Given the description of an element on the screen output the (x, y) to click on. 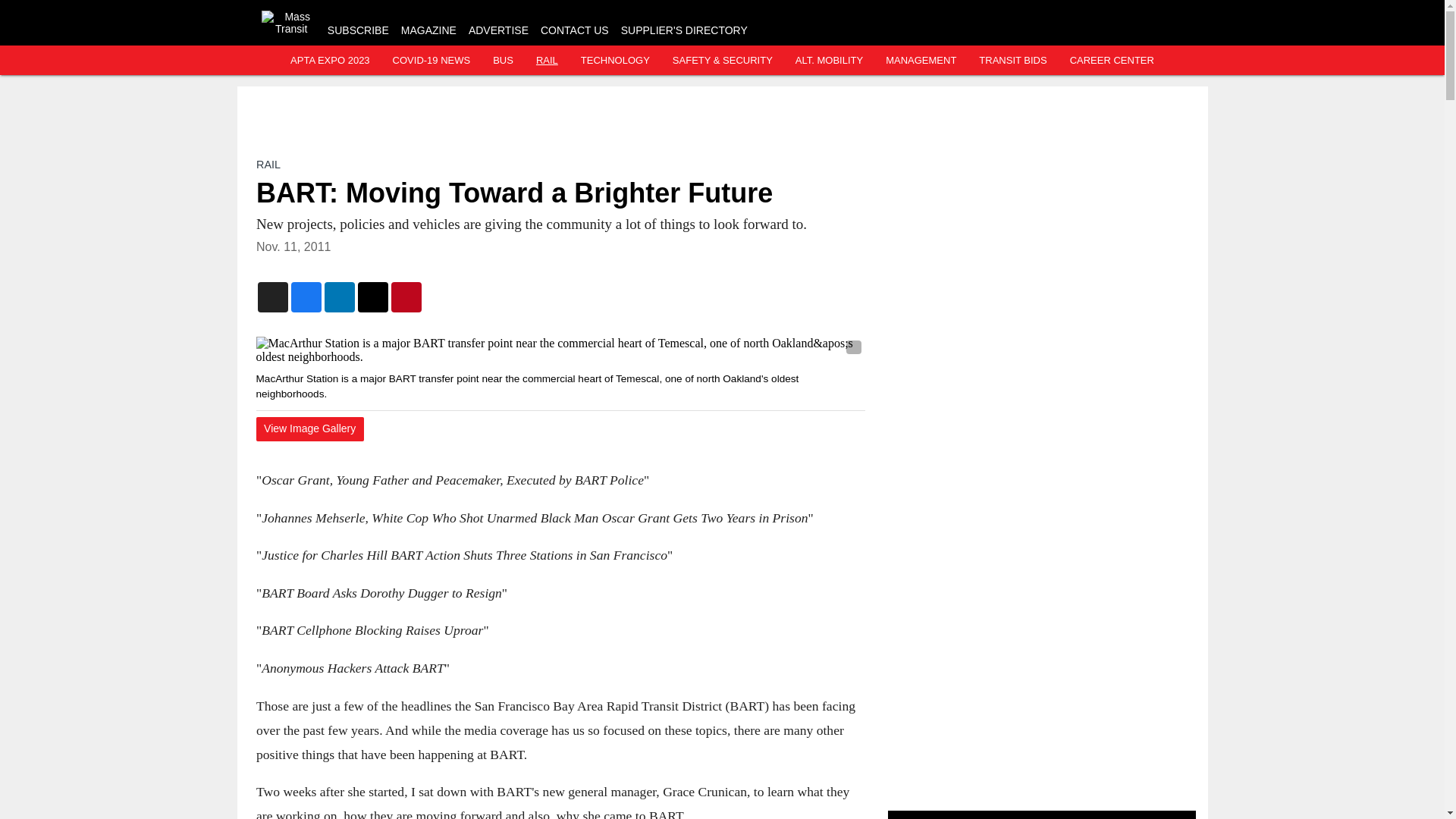
View Image Gallery (310, 429)
COVID-19 NEWS (431, 60)
SUPPLIER'S DIRECTORY (684, 30)
TECHNOLOGY (614, 60)
CONTACT US (574, 30)
RAIL (546, 60)
APTA EXPO 2023 (329, 60)
MAGAZINE (429, 30)
RAIL (268, 164)
ADVERTISE (498, 30)
